Given the description of an element on the screen output the (x, y) to click on. 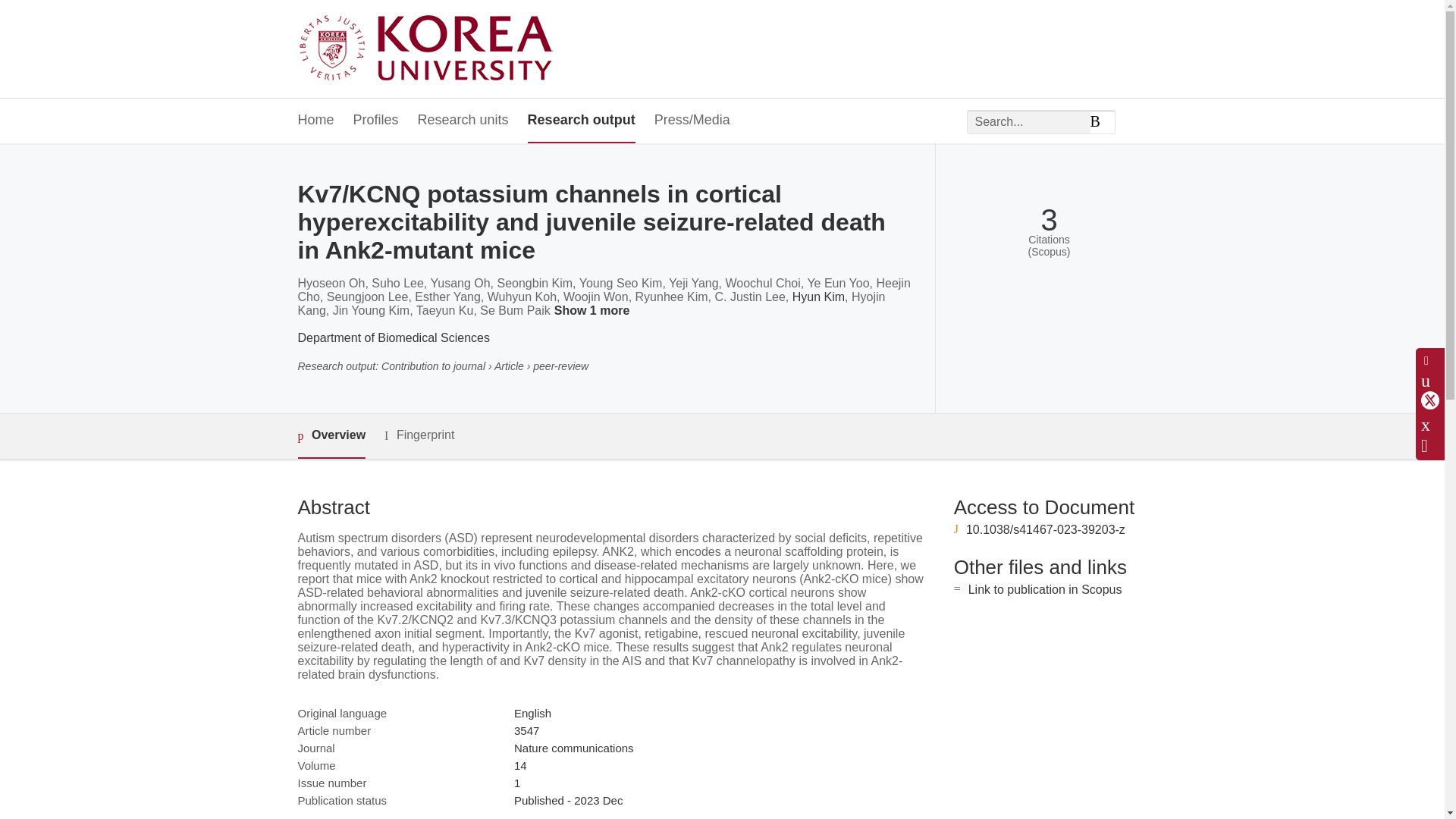
Nature communications (573, 748)
Fingerprint (419, 435)
Link to publication in Scopus (1045, 589)
Research units (462, 120)
Hyun Kim (818, 296)
Show 1 more (594, 311)
Overview (331, 436)
Korea University Home (429, 49)
Research output (580, 120)
